Given the description of an element on the screen output the (x, y) to click on. 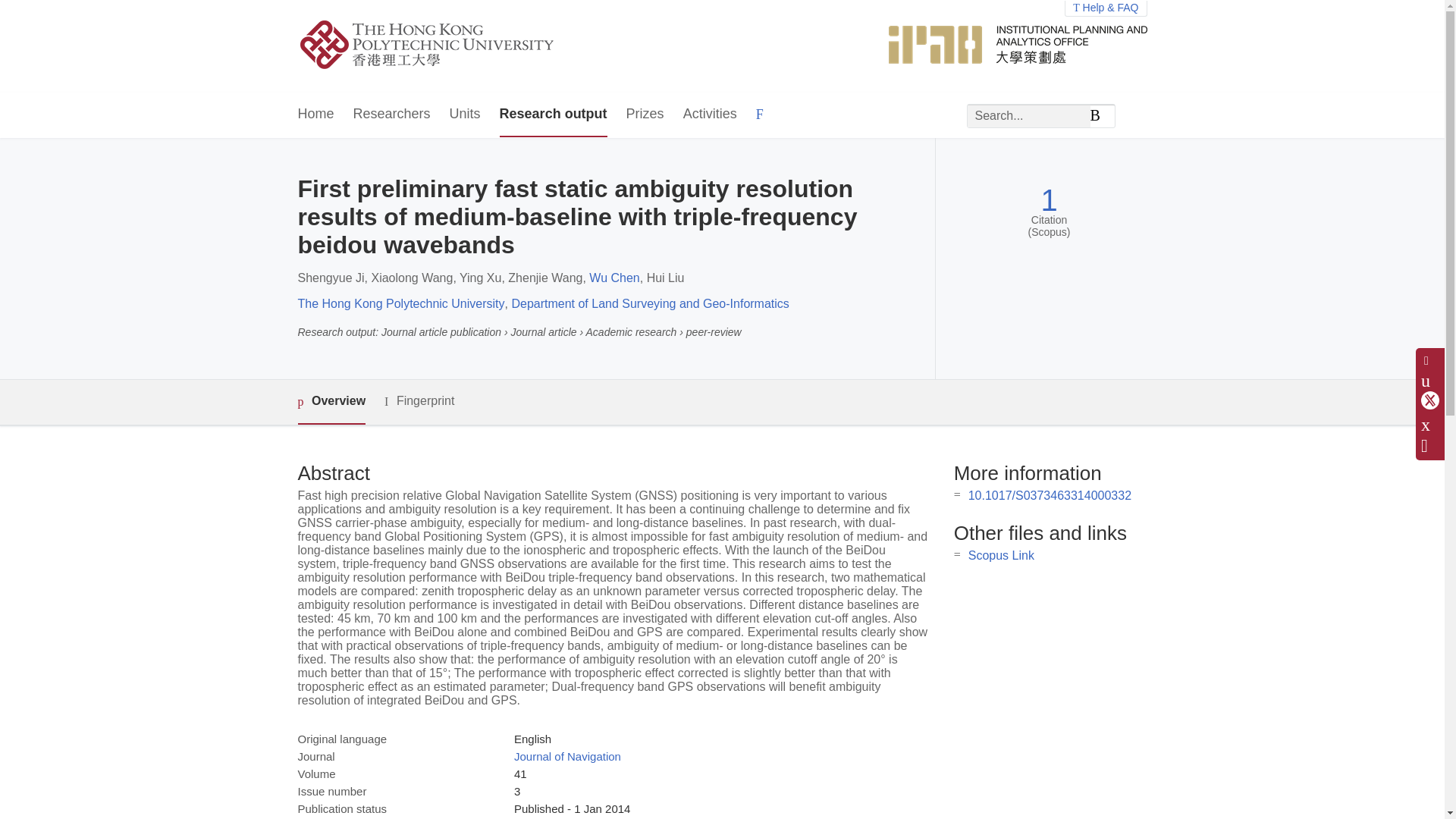
Journal of Navigation (567, 756)
Overview (331, 402)
PolyU Scholars Hub Home (444, 46)
Activities (709, 114)
Researchers (391, 114)
The Hong Kong Polytechnic University (400, 303)
Scopus Link (1000, 554)
Wu Chen (614, 277)
Research output (553, 114)
Fingerprint (419, 401)
Department of Land Surveying and Geo-Informatics (650, 303)
